Given the description of an element on the screen output the (x, y) to click on. 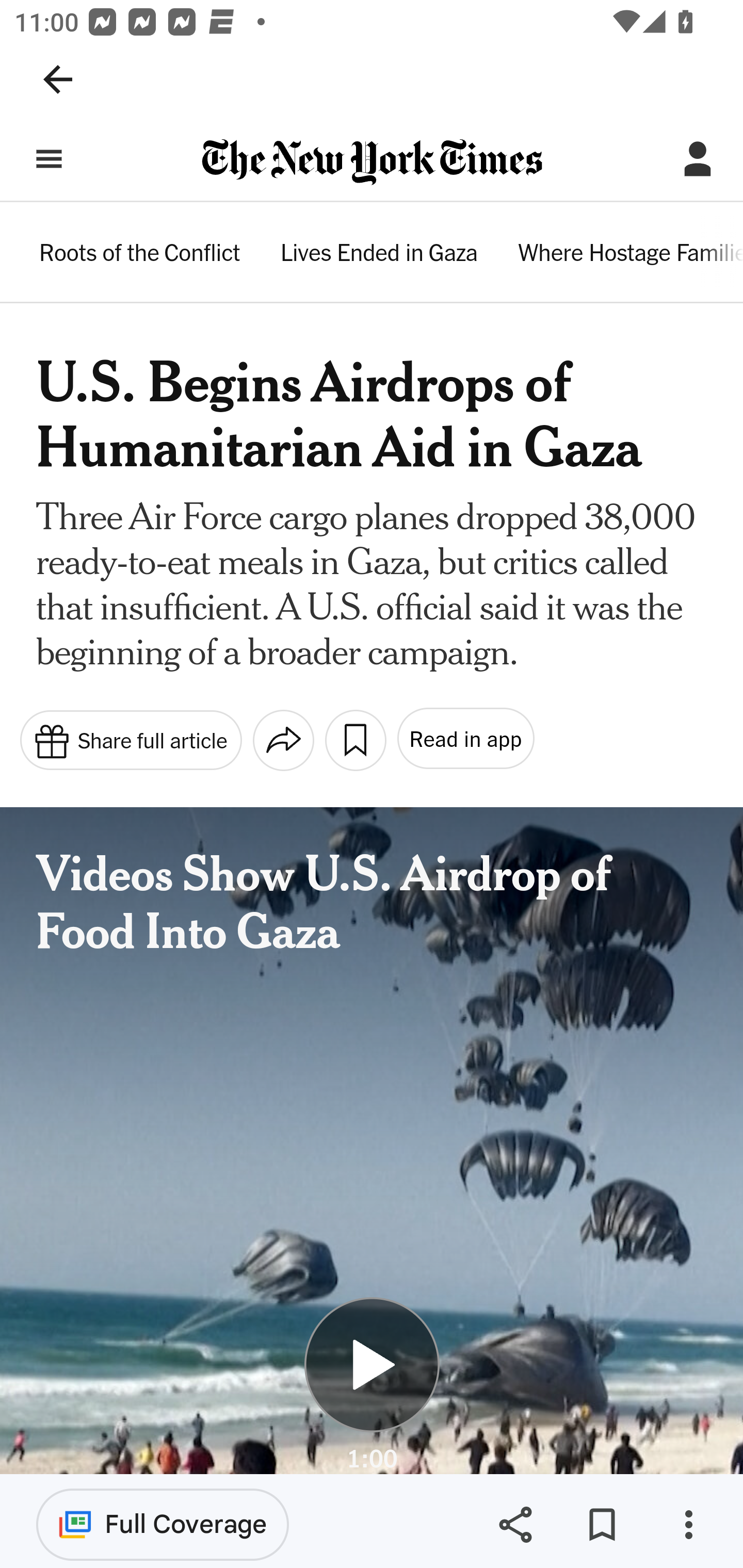
Navigate up (57, 79)
SEARCH & SECTION NAVIGATION (48, 159)
Log in (697, 159)
New York Times homepage (371, 162)
Roots of the Conflict (139, 254)
Lives Ended in Gaza (378, 254)
Where Hostage Families Gather (629, 254)
More sharing options ... (283, 740)
Save article for reading later... (355, 740)
Read in app (464, 738)
Share full article (129, 738)
Share (514, 1524)
Save for later (601, 1524)
More options (688, 1524)
Full Coverage (162, 1524)
